Given the description of an element on the screen output the (x, y) to click on. 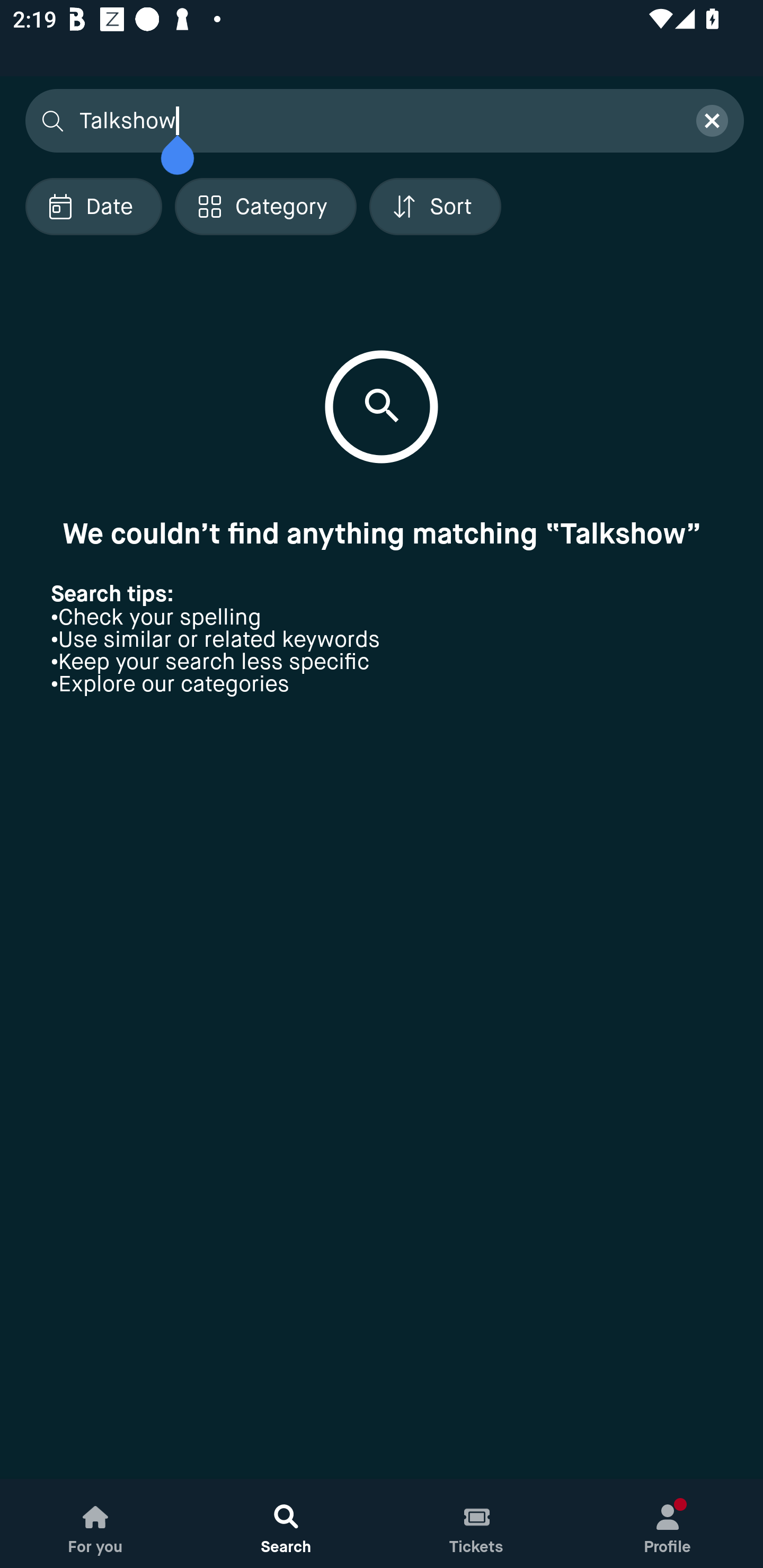
Talkshow (376, 120)
Localized description Date (93, 205)
Localized description Category (265, 205)
Localized description Sort (435, 205)
We couldn’t find anything matching “Talkshow” (381, 532)
For you (95, 1523)
Tickets (476, 1523)
Profile, New notification Profile (667, 1523)
